Given the description of an element on the screen output the (x, y) to click on. 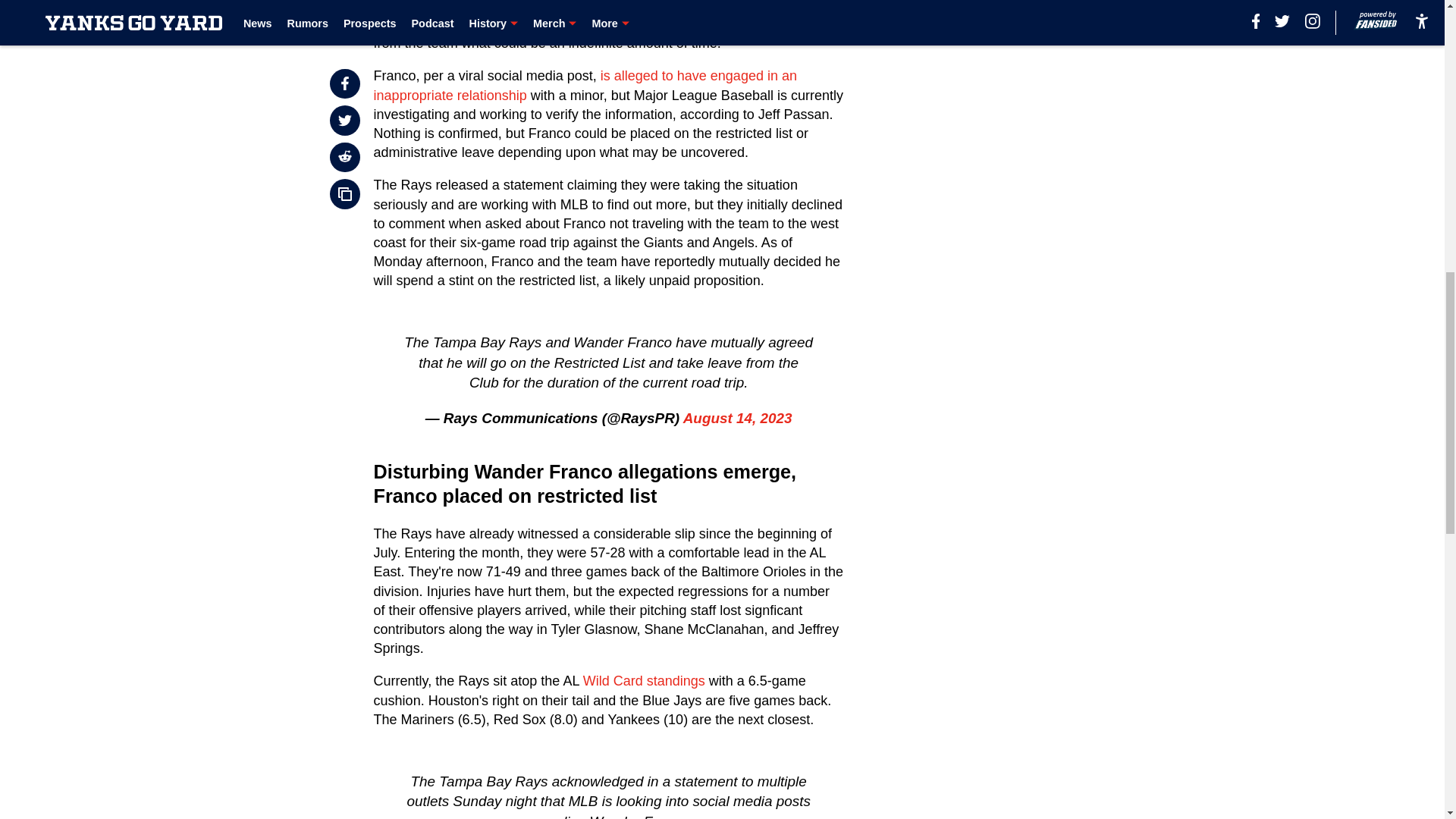
August 14, 2023 (737, 417)
New York Yankees (457, 6)
is alleged to have engaged in an inappropriate relationship (585, 84)
